Given the description of an element on the screen output the (x, y) to click on. 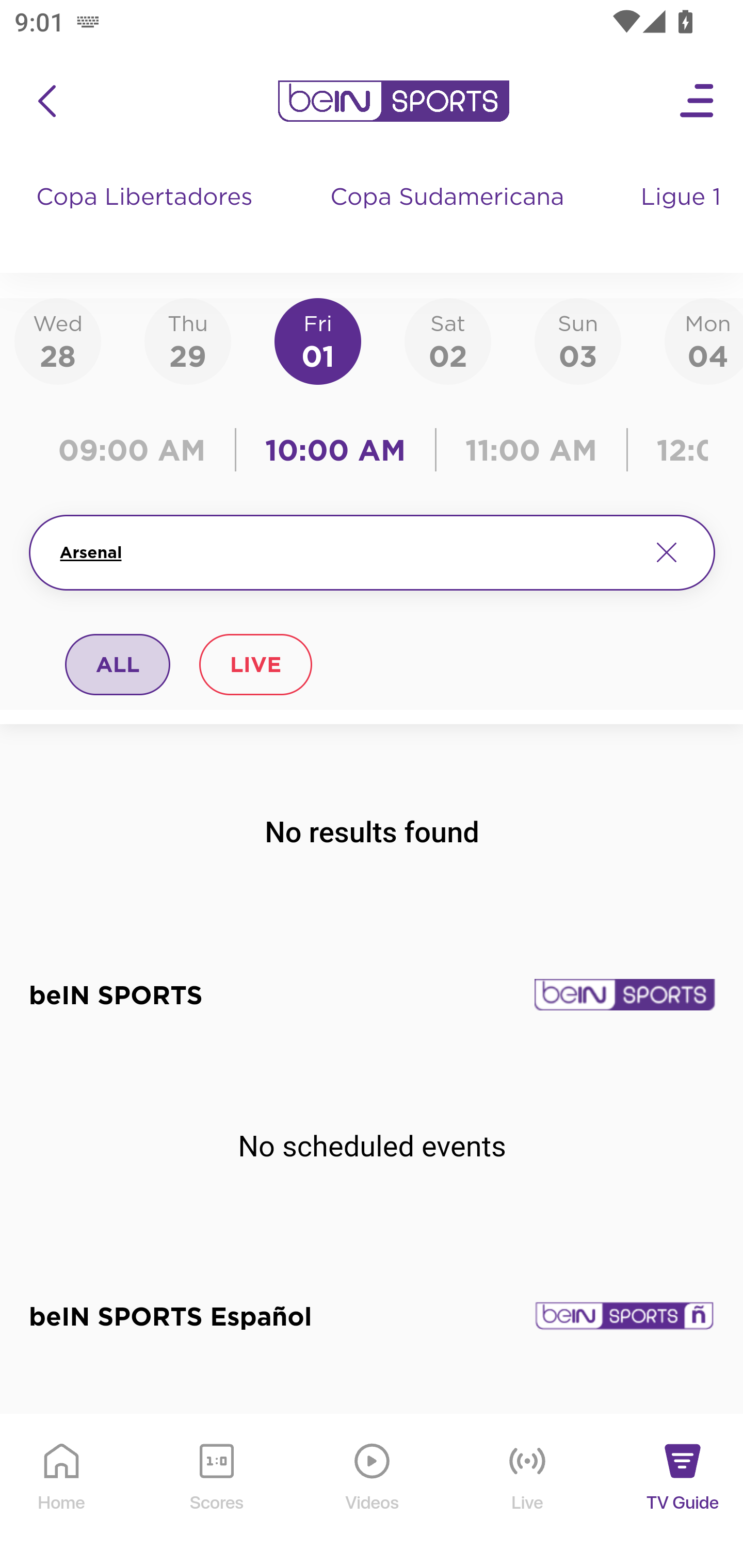
en-us?platform=mobile_android bein logo (392, 101)
icon back (46, 101)
Open Menu Icon (697, 101)
Copa Libertadores (146, 216)
Copa Sudamericana (448, 216)
Ligue 1 (682, 216)
Wed28 (58, 340)
Thu29 (187, 340)
Fri01 (318, 340)
Sat02 (447, 340)
Sun03 (578, 340)
Mon04 (703, 340)
09:00 AM (136, 449)
10:00 AM (335, 449)
11:00 AM (531, 449)
Arsenal (346, 552)
ALL (118, 663)
LIVE (255, 663)
Home Home Icon Home (61, 1491)
Scores Scores Icon Scores (216, 1491)
Videos Videos Icon Videos (372, 1491)
TV Guide TV Guide Icon TV Guide (682, 1491)
